Given the description of an element on the screen output the (x, y) to click on. 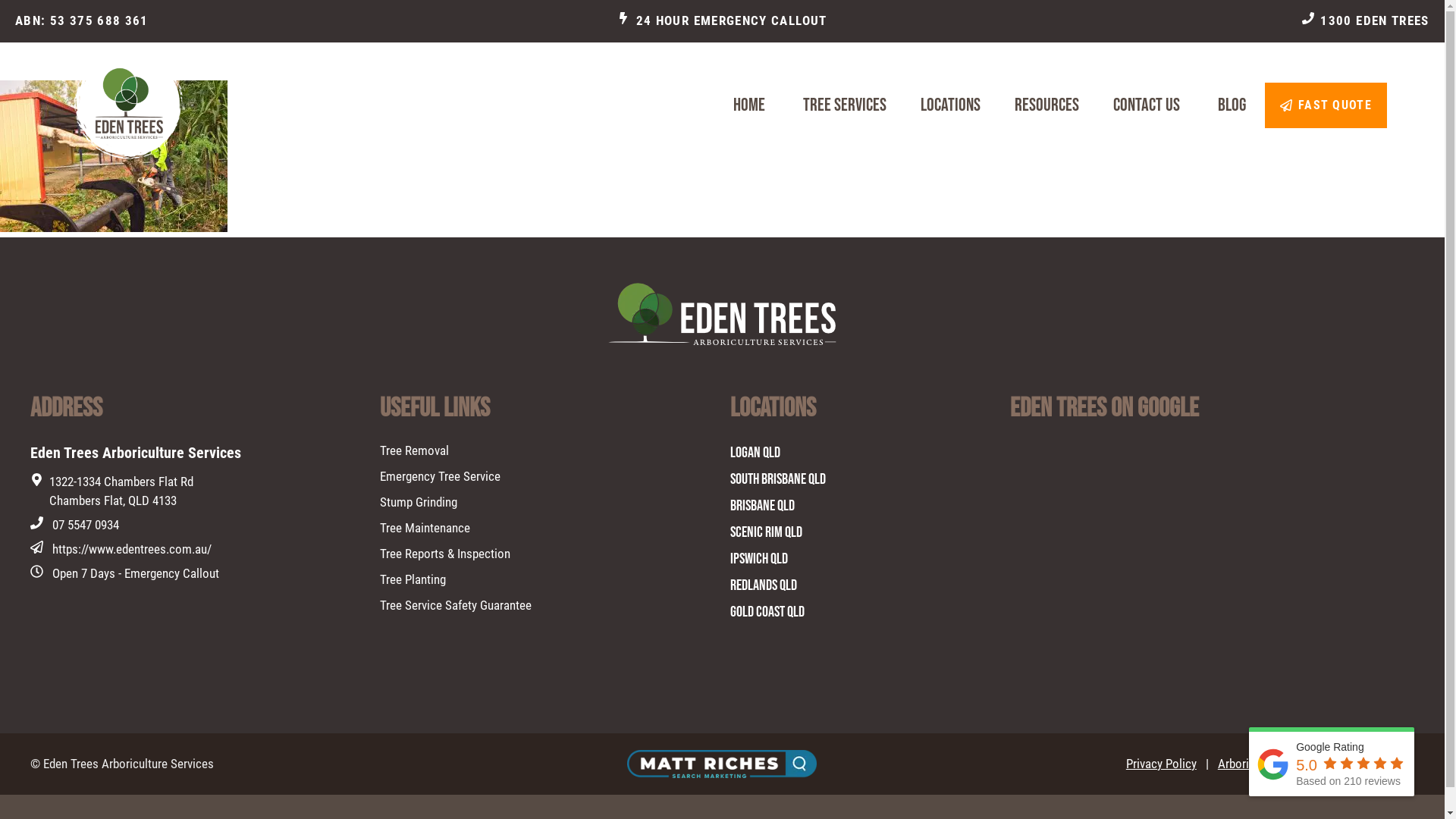
BLOG Element type: text (1231, 105)
RESOURCES Element type: text (1044, 105)
Eden Trees Arboriculture Services Element type: text (128, 763)
Tree Removal Element type: text (413, 451)
Redlands QLD Element type: text (762, 585)
Brisbane QLD Element type: text (761, 504)
Tree Maintenance Element type: text (424, 528)
South Brisbane QLD Element type: text (777, 479)
HOME Element type: text (749, 105)
Privacy Policy Element type: text (1161, 763)
TREE SERVICES Element type: text (842, 105)
Scenic Rim QLD Element type: text (765, 532)
Stump Grinding Element type: text (418, 502)
https://www.edentrees.com.au/ Element type: text (131, 548)
LOCATIONS Element type: text (948, 105)
Emergency Tree Service Element type: text (439, 476)
Arborist Qualifications and Certificates Element type: text (1315, 763)
Tree Reports & Inspection Element type: text (444, 554)
Eden-Trees-Logo-Inline-White Element type: hover (722, 313)
Logan QLD Element type: text (754, 451)
CONTACT US Element type: text (1146, 105)
Eden Trees Arboriculture Services Element type: hover (95, 105)
Eden Trees Arboriculture Services Element type: hover (127, 105)
Tree Planting Element type: text (412, 579)
Tree Service Safety Guarantee Element type: text (455, 605)
Ipswich QLD Element type: text (758, 558)
Gold Coast QLD Element type: text (766, 611)
